Given the description of an element on the screen output the (x, y) to click on. 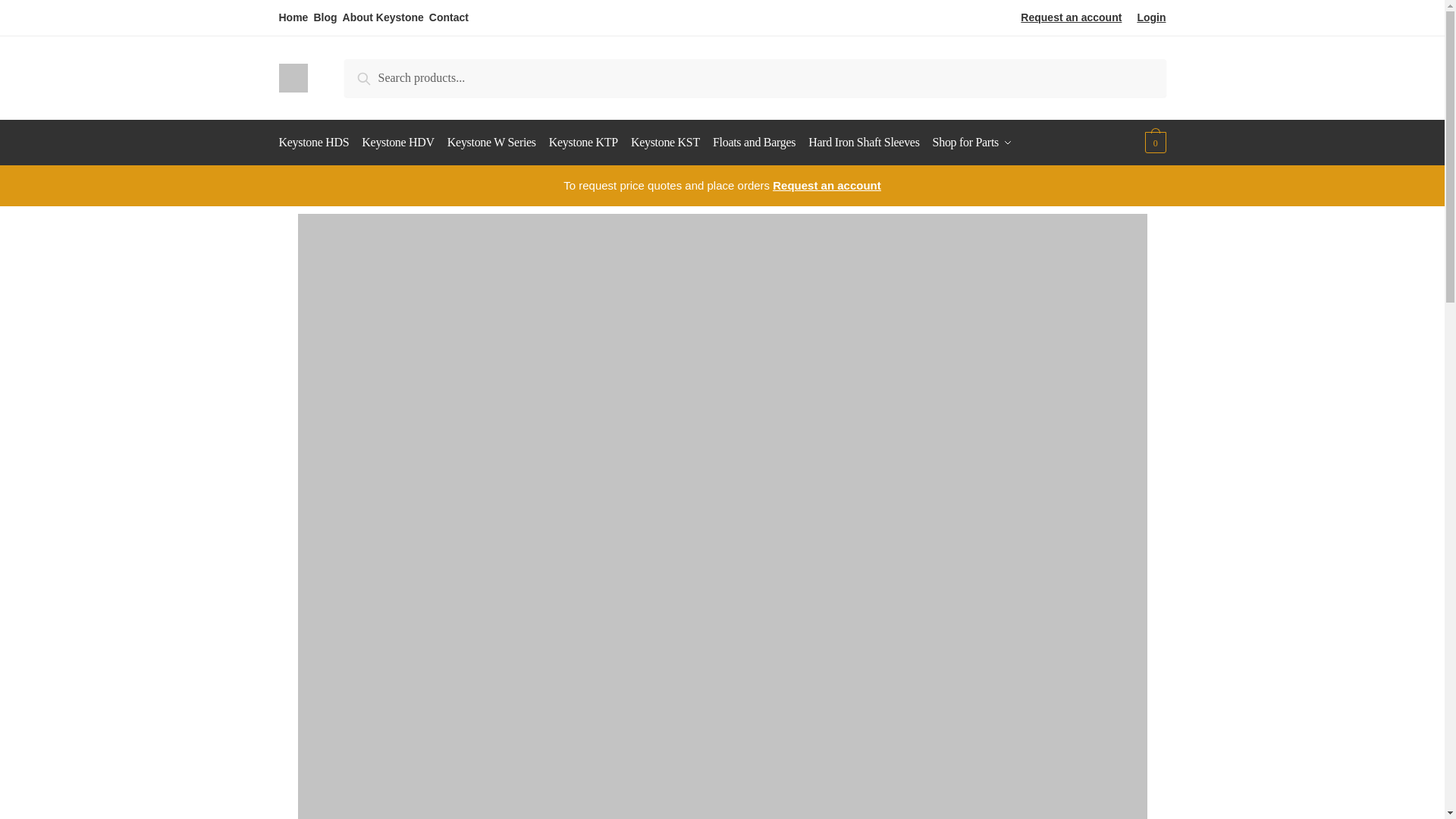
Blog (324, 16)
Keystone W Series (491, 142)
Keystone HDS (317, 142)
Login (1151, 17)
Hard Iron Shaft Sleeves (863, 142)
Keystone KST (665, 142)
Request an account (1070, 17)
Keystone HDV (398, 142)
Home (293, 16)
Contact (448, 16)
